Given the description of an element on the screen output the (x, y) to click on. 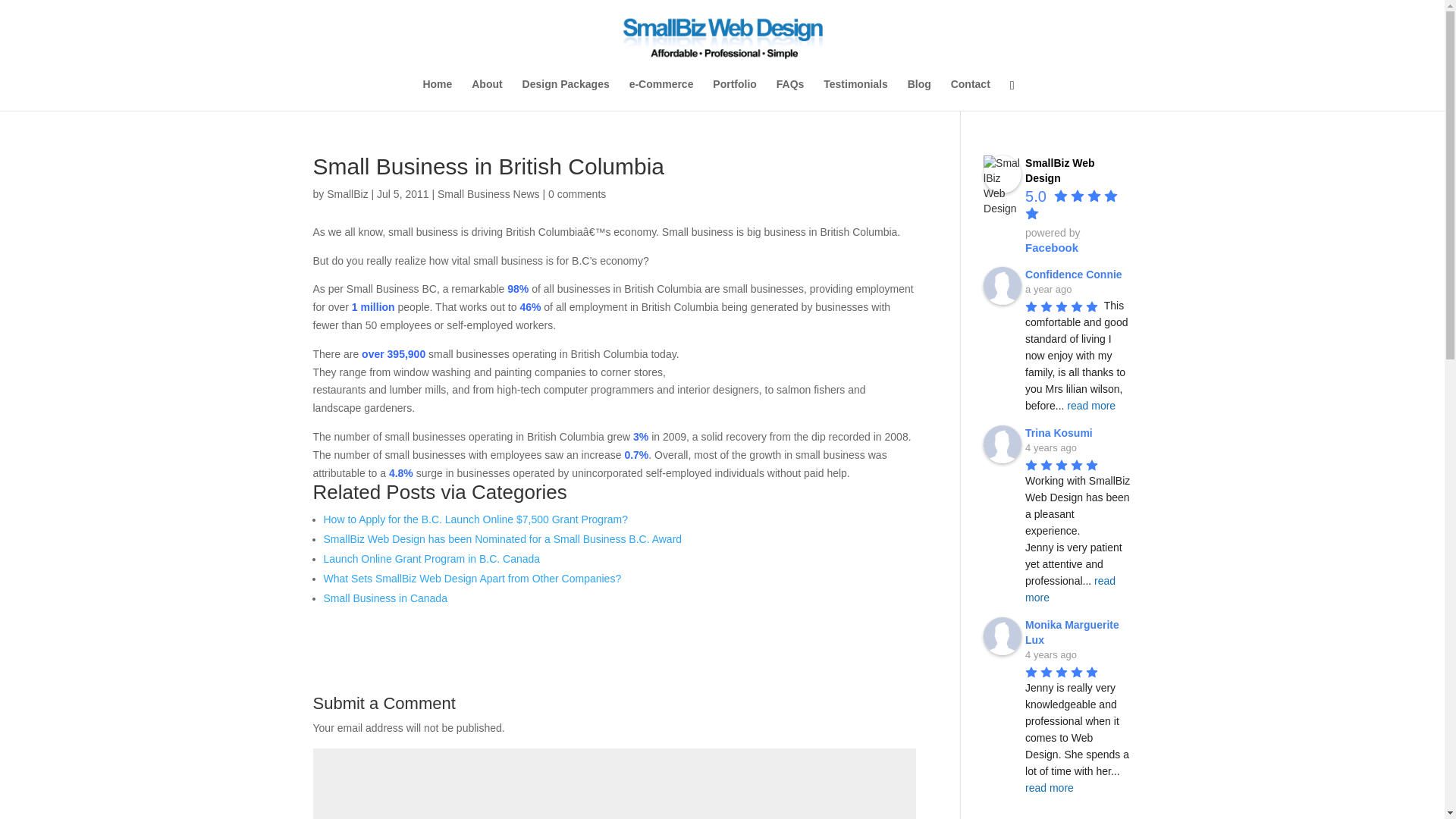
Small Business in Canada (384, 598)
SmallBiz (347, 193)
Contact (970, 94)
What Sets SmallBiz Web Design Apart from Other Companies? (472, 578)
What Sets SmallBiz Web Design Apart from Other Companies? (472, 578)
Launch Online Grant Program in B.C. Canada (431, 558)
SmallBiz Web Design (1059, 170)
Confidence Connie (1003, 285)
Small Business in Canada (384, 598)
Small Business News (489, 193)
